Given the description of an element on the screen output the (x, y) to click on. 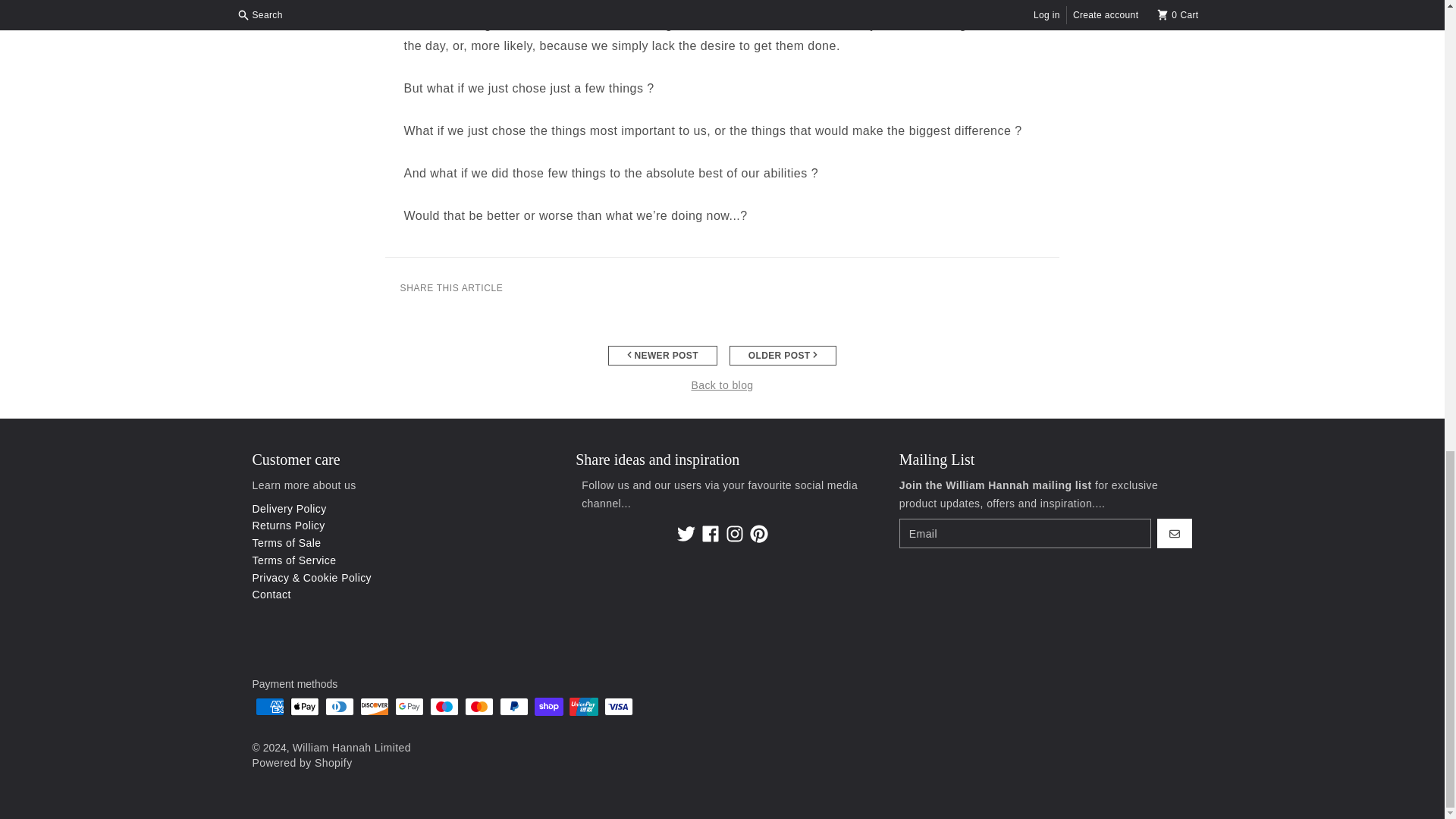
Returns Policy (287, 525)
Powered by Shopify (301, 762)
Instagram - William Hannah Limited (733, 533)
Terms of Service (293, 560)
Delivery Policy (288, 508)
William Hannah Limited (351, 747)
OLDER POST (783, 355)
Pinterest - William Hannah Limited (758, 533)
Facebook - William Hannah Limited (709, 533)
NEWER POST (662, 355)
Terms of Sale (286, 542)
Back to blog (721, 385)
GO (1174, 533)
Twitter - William Hannah Limited (685, 533)
Contact (271, 594)
